Given the description of an element on the screen output the (x, y) to click on. 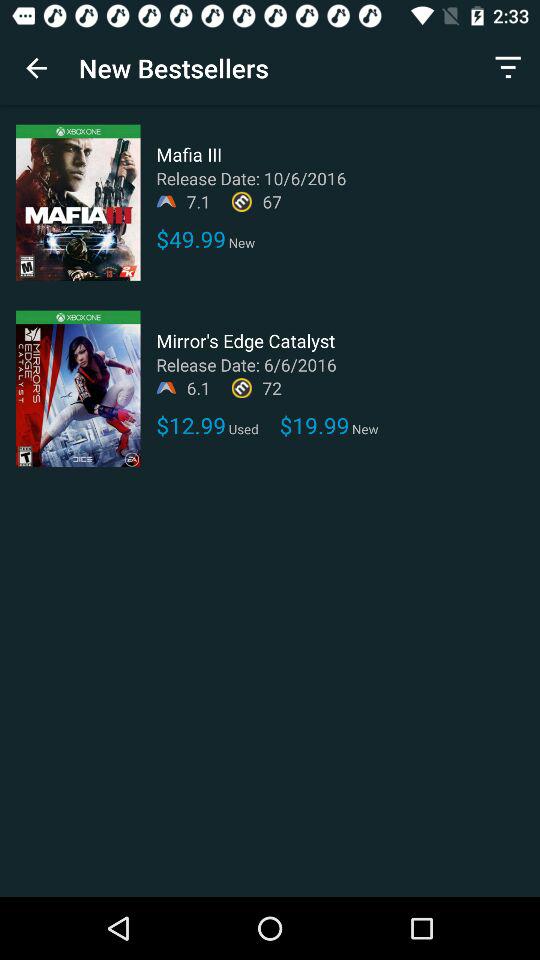
click app to the left of the new bestsellers item (36, 68)
